Given the description of an element on the screen output the (x, y) to click on. 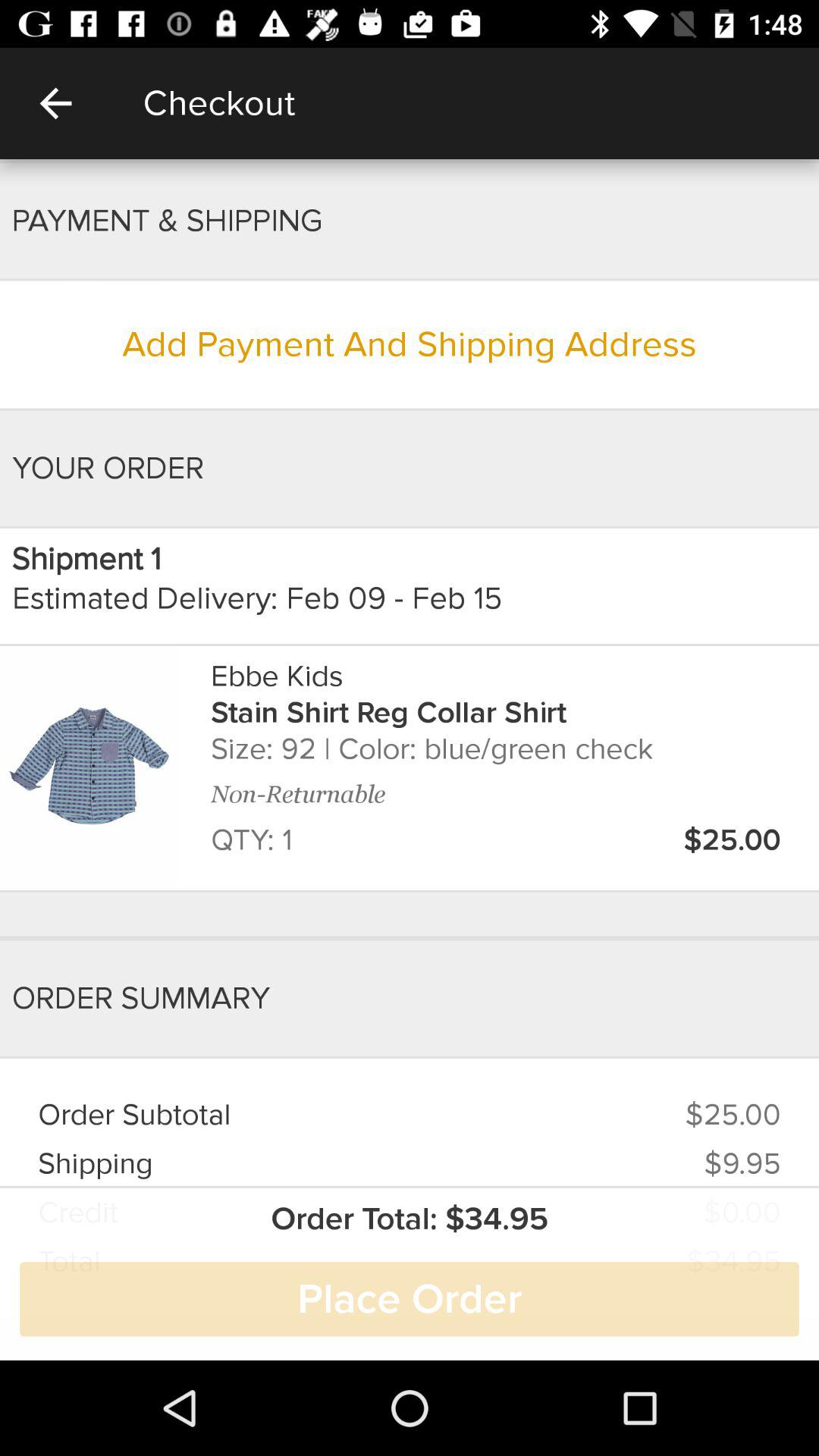
select the icon next to checkout item (55, 103)
